Given the description of an element on the screen output the (x, y) to click on. 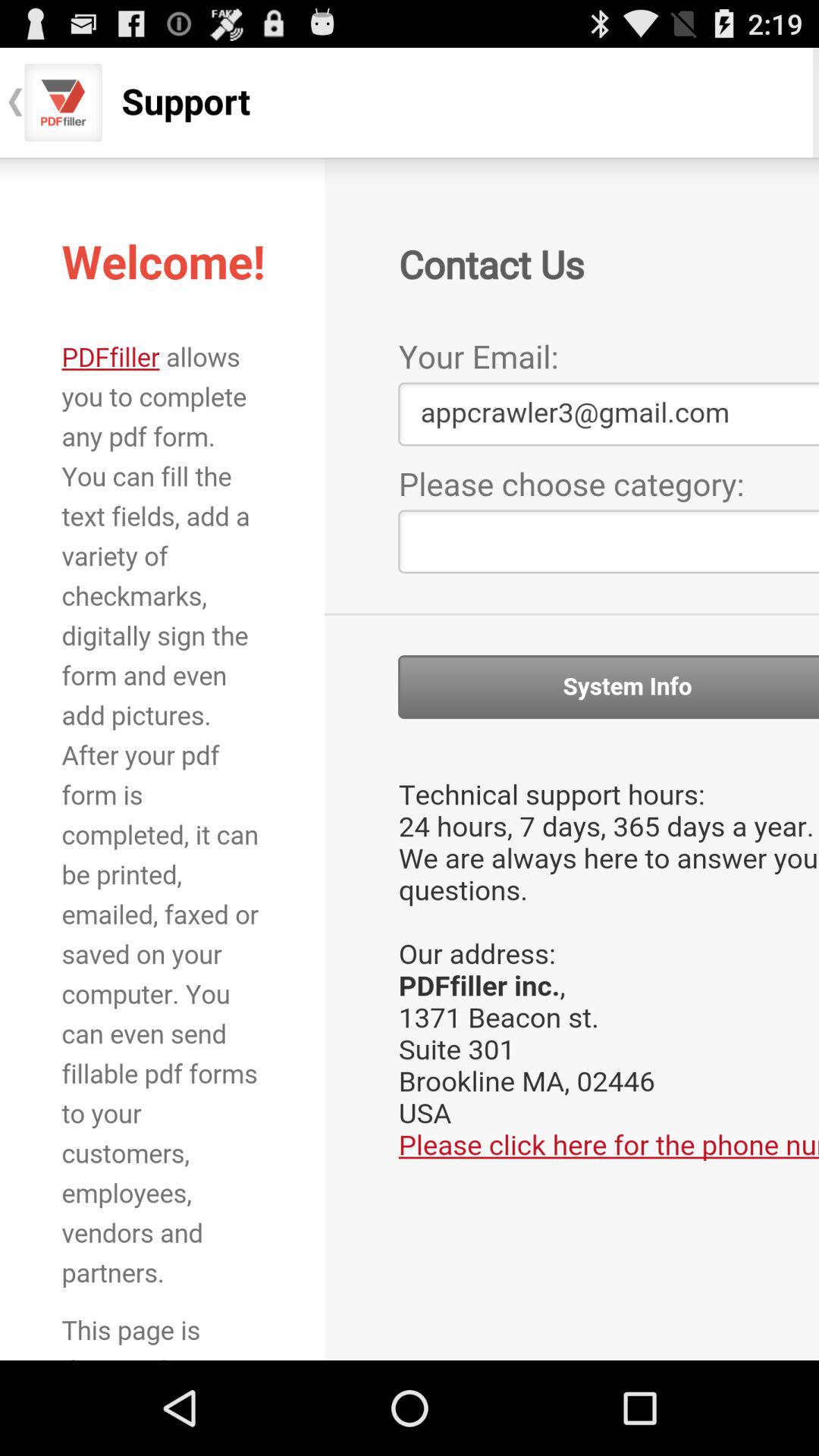
login menu (409, 758)
